Given the description of an element on the screen output the (x, y) to click on. 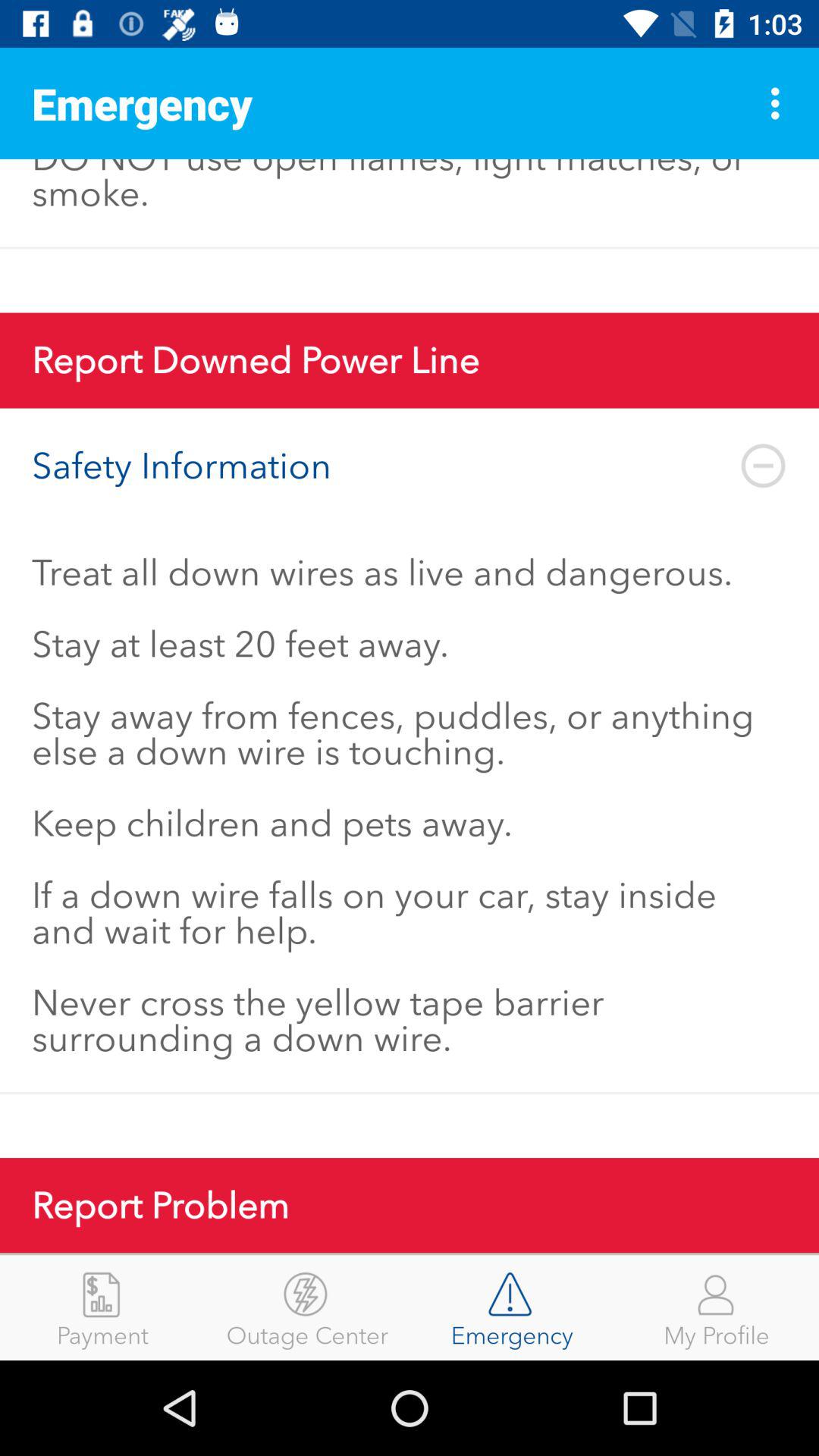
press icon above treat all down (409, 465)
